Given the description of an element on the screen output the (x, y) to click on. 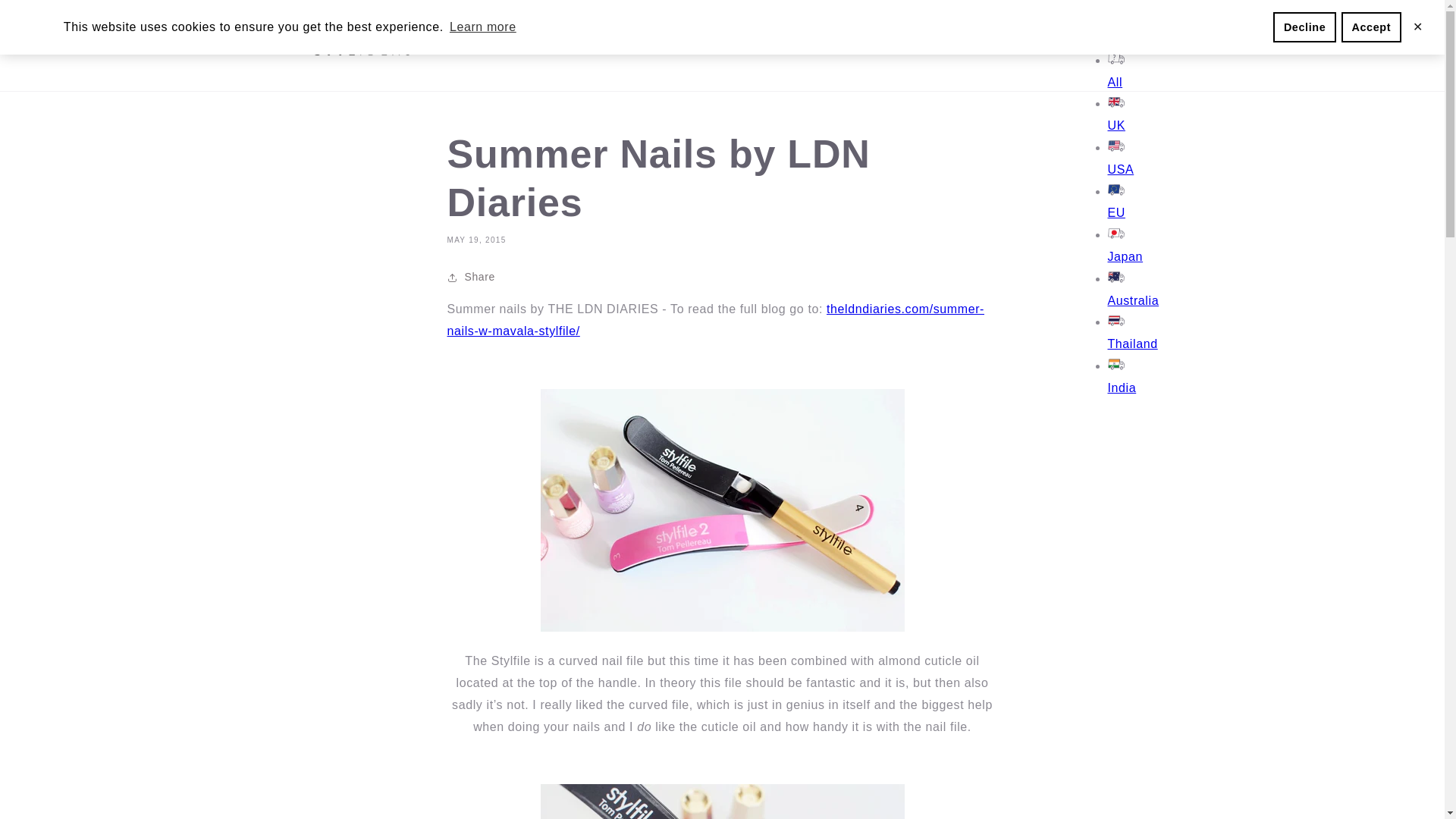
Home (463, 45)
LDN (715, 319)
Learn more (482, 26)
Accept (1370, 27)
Skip to content (45, 16)
Decline (1303, 27)
